Given the description of an element on the screen output the (x, y) to click on. 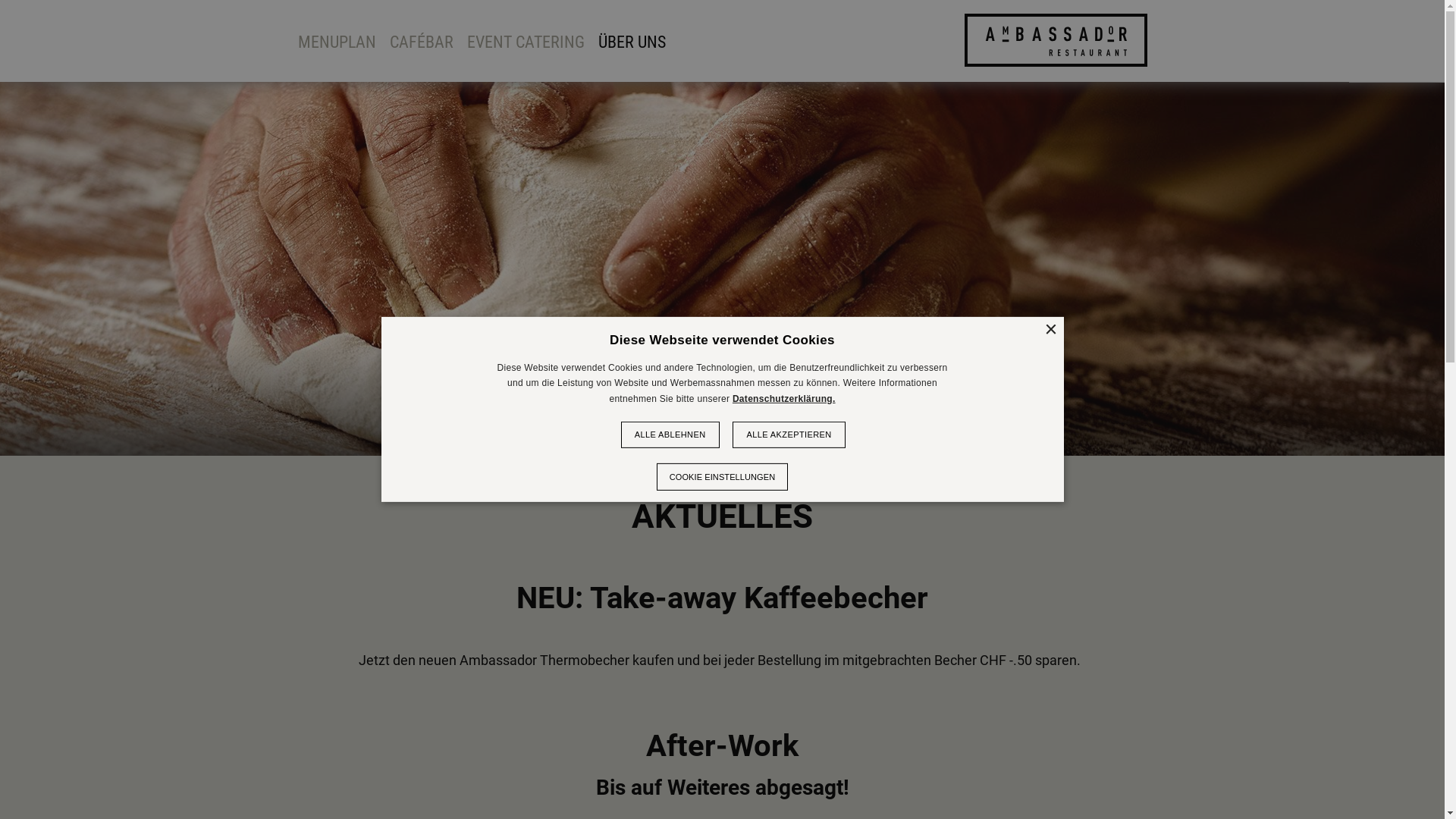
EVENT CATERING Element type: text (525, 41)
MENUPLAN Element type: text (336, 41)
